Given the description of an element on the screen output the (x, y) to click on. 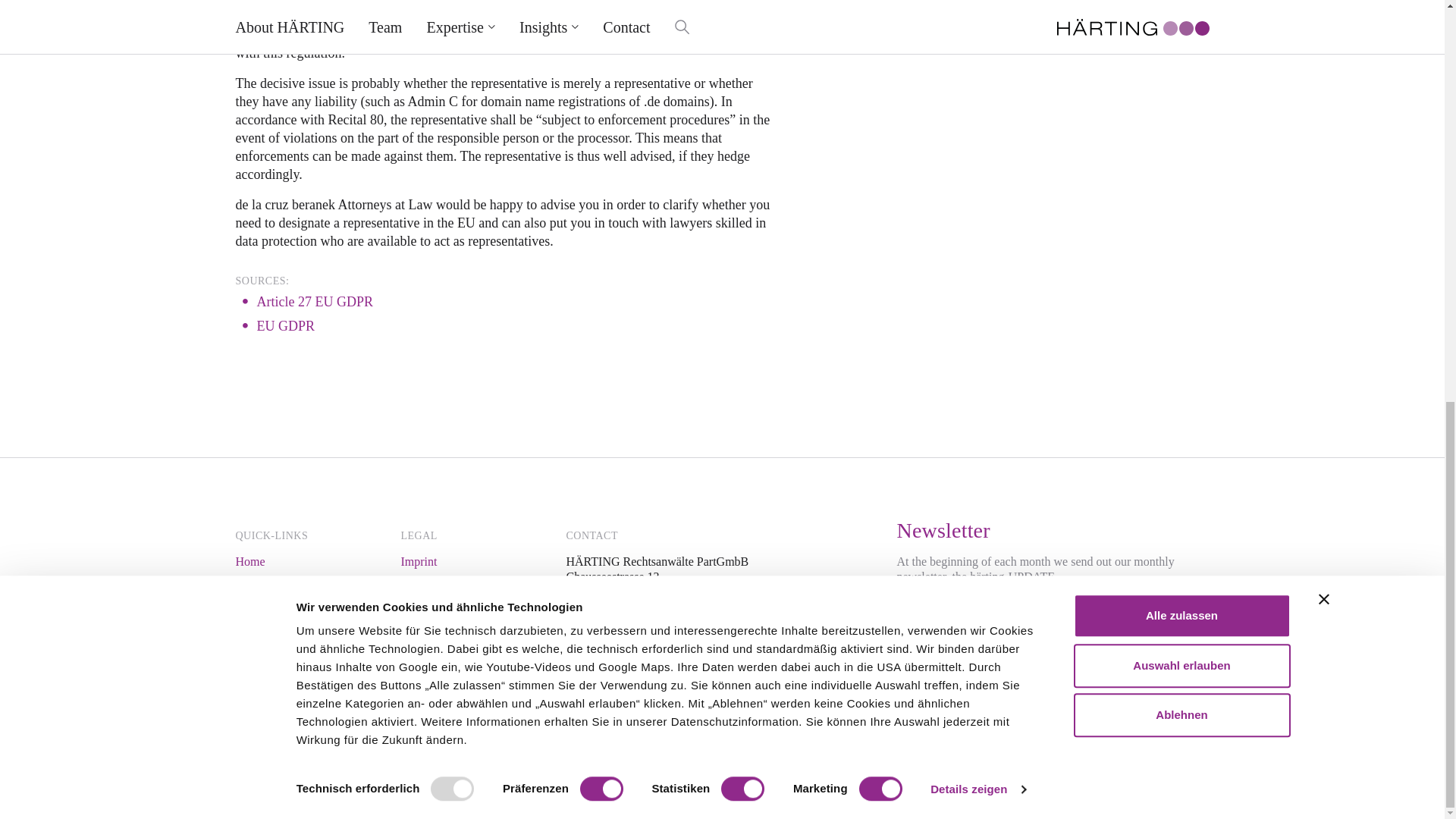
Subscribe (1120, 614)
Details zeigen (977, 6)
